Given the description of an element on the screen output the (x, y) to click on. 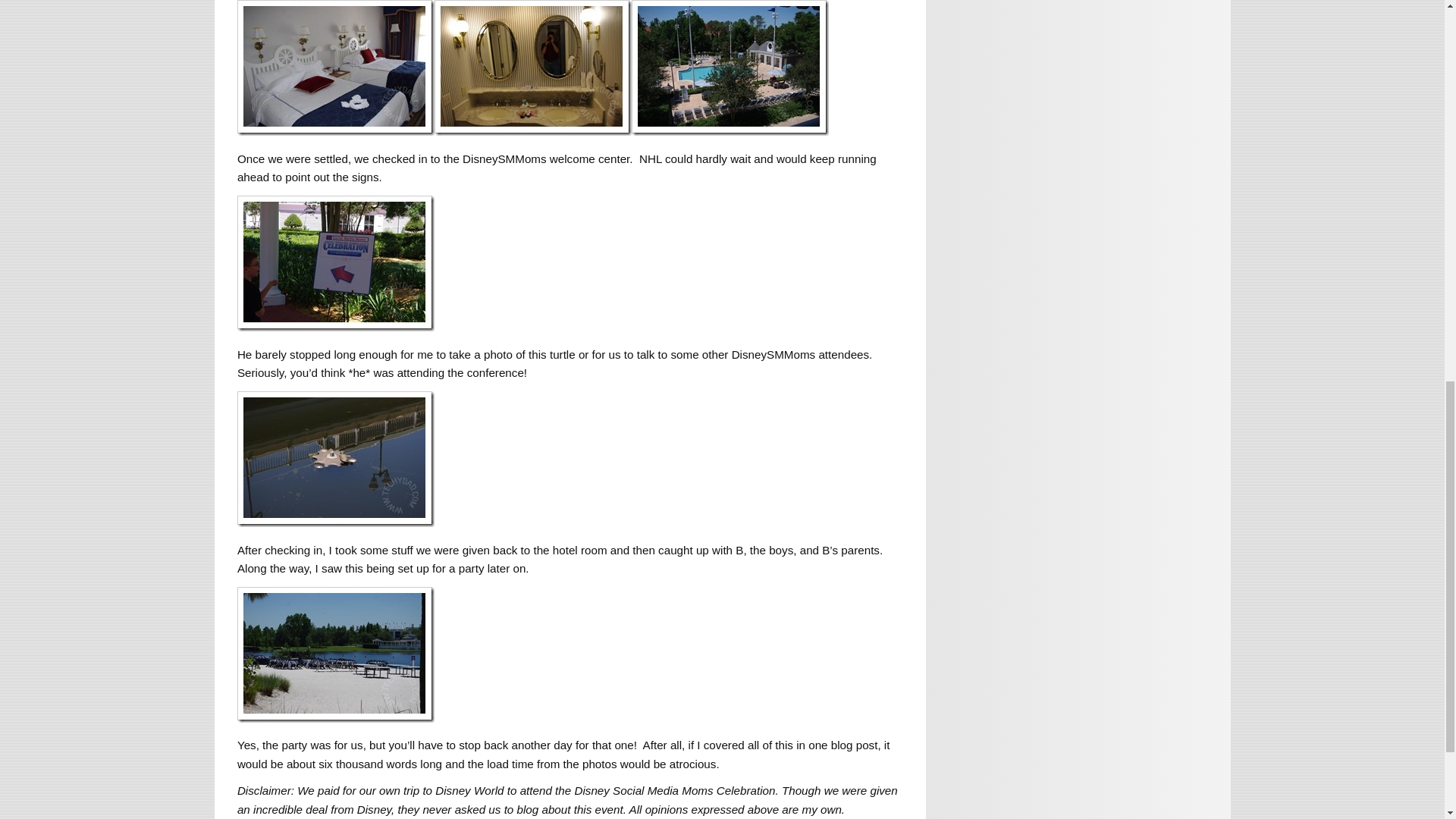
IMGP5794 (335, 459)
IMGP5806 (335, 654)
IMGP5778 (335, 67)
IMGP5781 (532, 67)
IMGP5792 (335, 263)
IMGP5782 (729, 67)
